Given the description of an element on the screen output the (x, y) to click on. 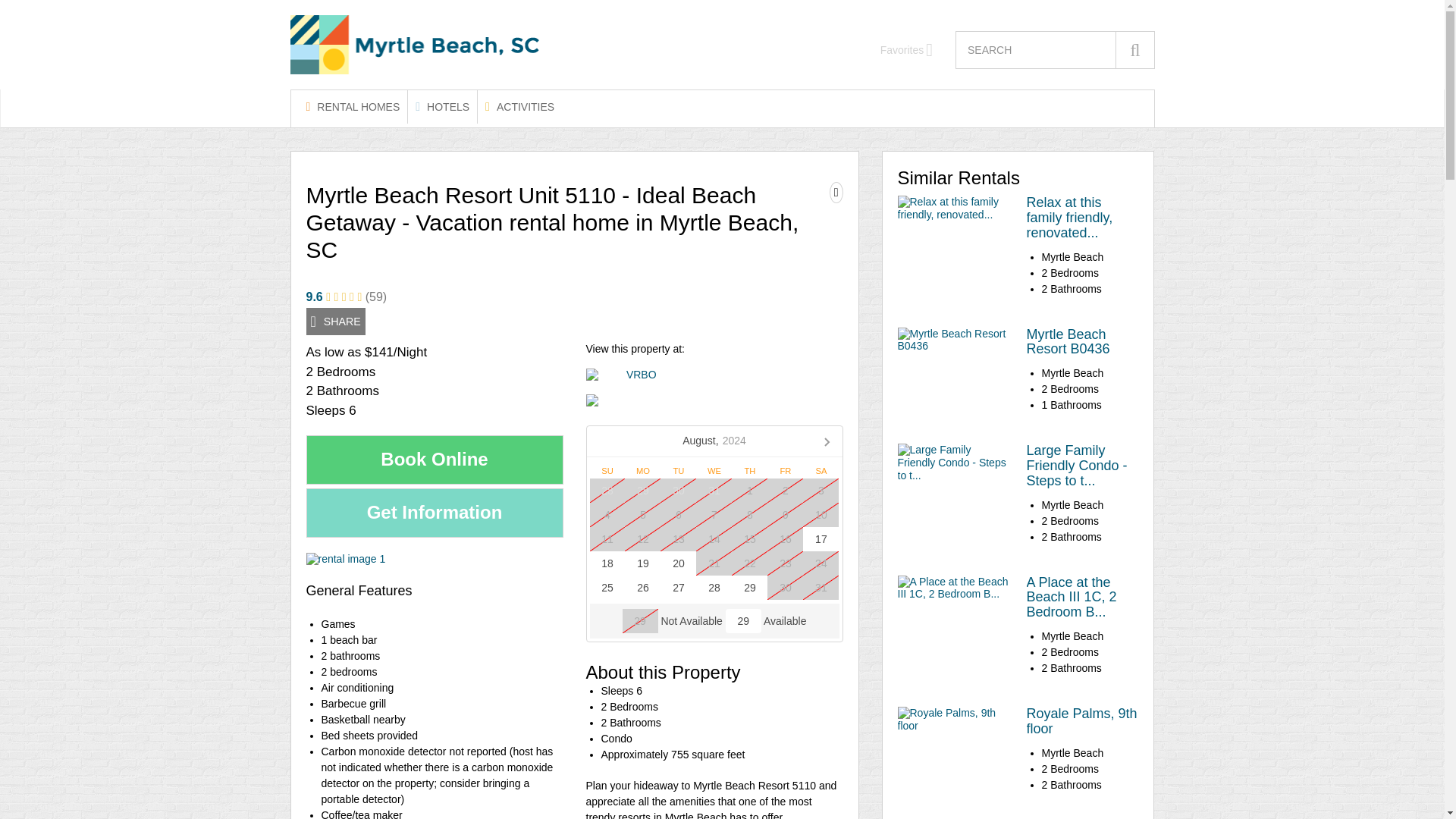
Relax at this family friendly, renovated... (1069, 217)
ACTIVITIES (519, 106)
RENTAL HOMES (352, 106)
SHARE (335, 320)
HOTELS (442, 106)
Get Information (434, 512)
A Place at the Beach III 1C, 2 Bedroom B... (1071, 596)
Myrtle Beach Resort B0436 (1067, 341)
Book Online (434, 459)
Favorites (906, 49)
Large Family Friendly Condo - Steps to t... (1076, 465)
